Given the description of an element on the screen output the (x, y) to click on. 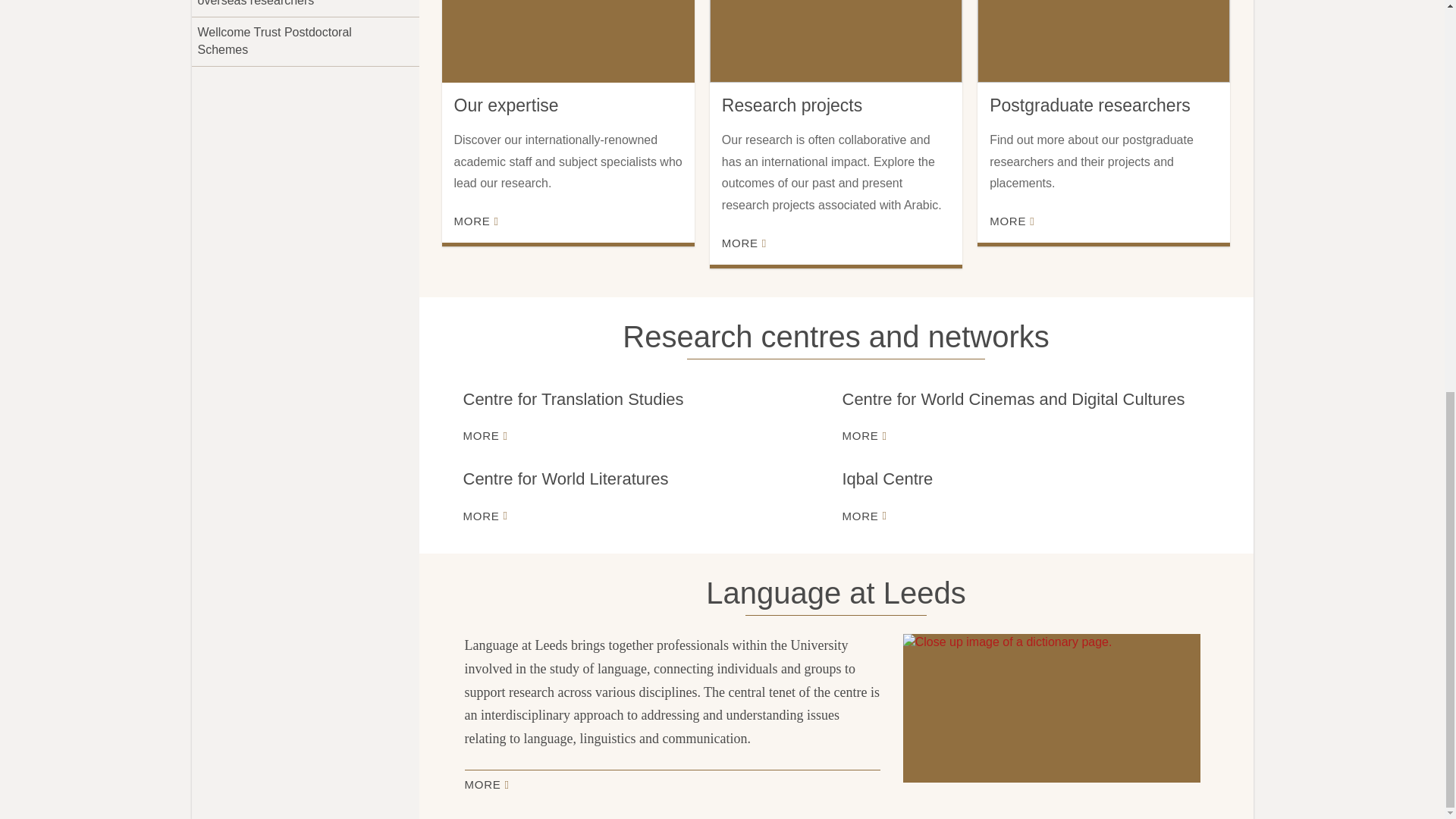
Postgraduate researchers (1103, 41)
Our expertise (567, 41)
More on Postgraduate researchers (1011, 221)
More on Research projects (744, 243)
More on Our expertise (474, 221)
Research projects (836, 41)
